Given the description of an element on the screen output the (x, y) to click on. 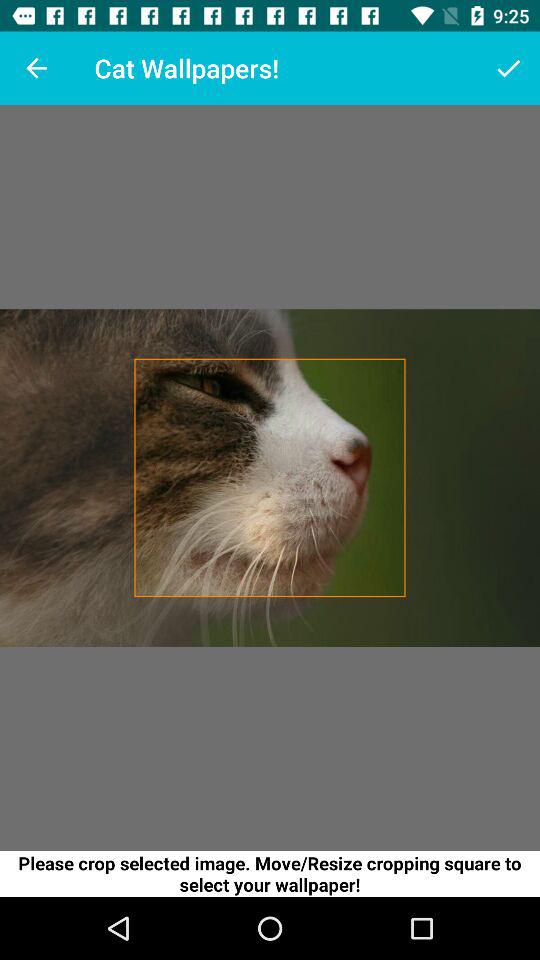
press icon next to cat wallpapers! item (508, 67)
